Given the description of an element on the screen output the (x, y) to click on. 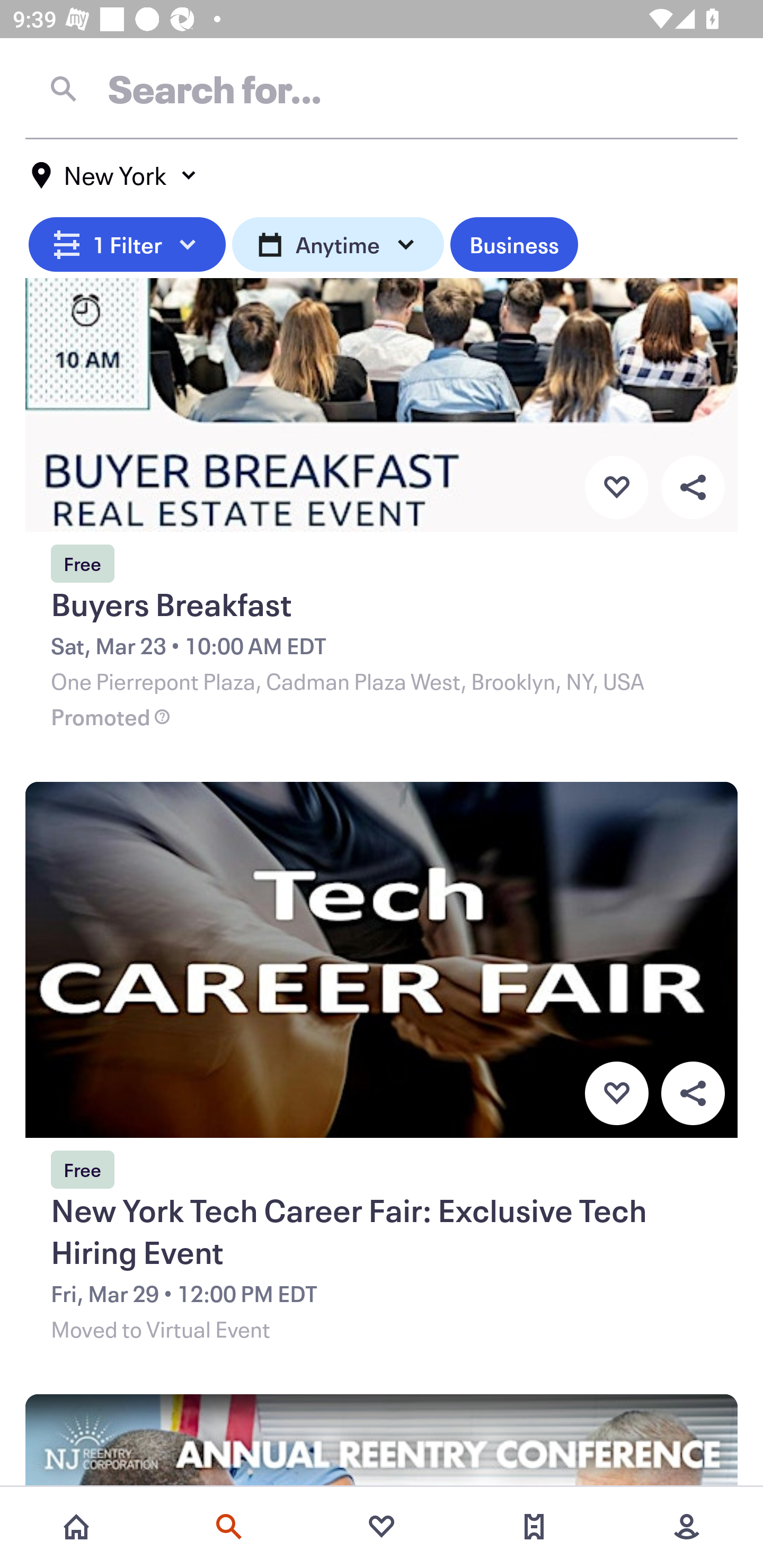
Search for… (381, 88)
New York (114, 175)
Favorite button (616, 486)
Overflow menu button (692, 486)
Favorite button (616, 1093)
Overflow menu button (692, 1093)
Home (76, 1526)
Search events (228, 1526)
Favorites (381, 1526)
Tickets (533, 1526)
More (686, 1526)
